Given the description of an element on the screen output the (x, y) to click on. 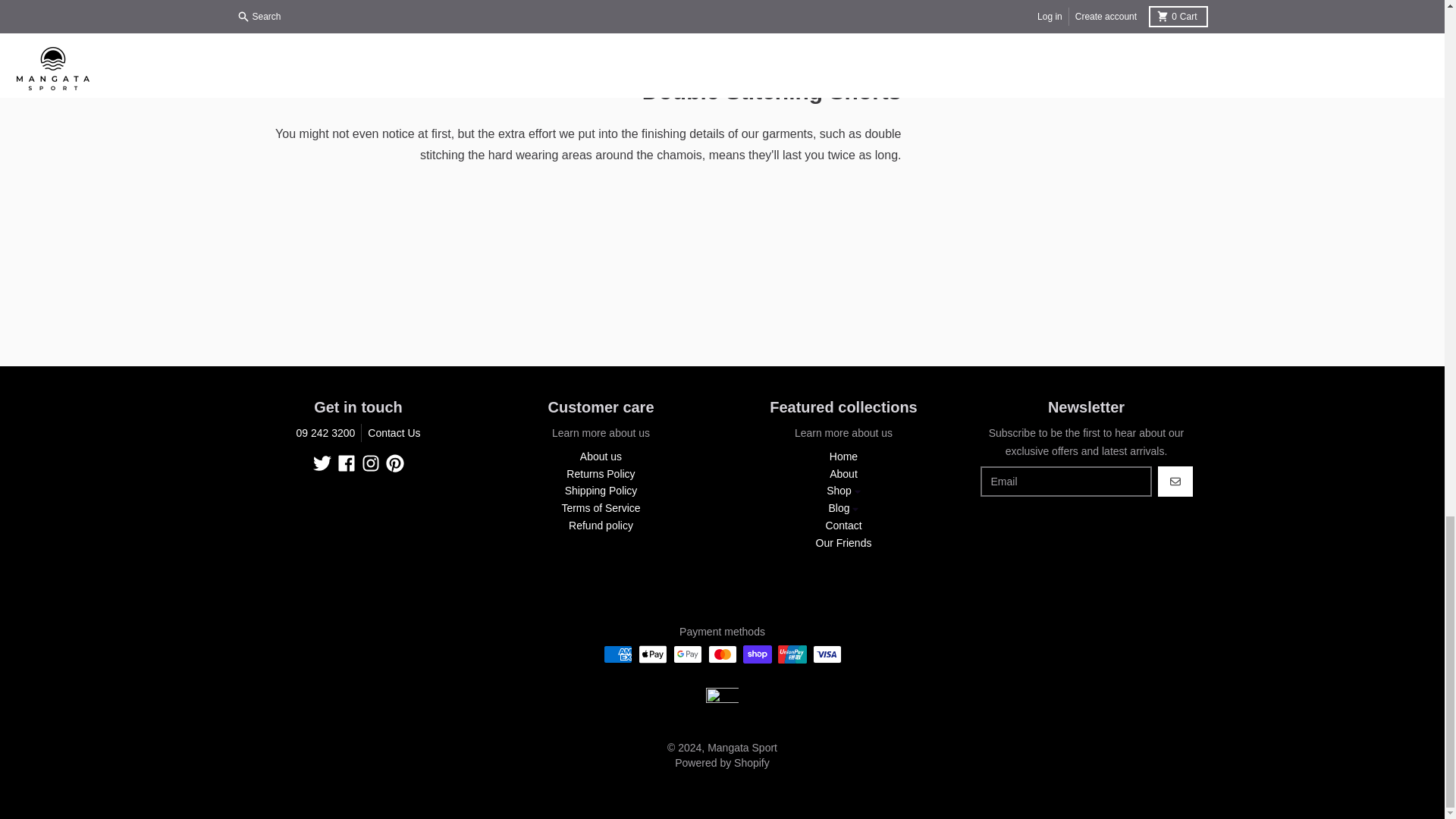
Twitter - Mangata Sport (321, 463)
Facebook - Mangata Sport (345, 463)
Pinterest - Mangata Sport (394, 463)
Instagram - Mangata Sport (369, 463)
